Given the description of an element on the screen output the (x, y) to click on. 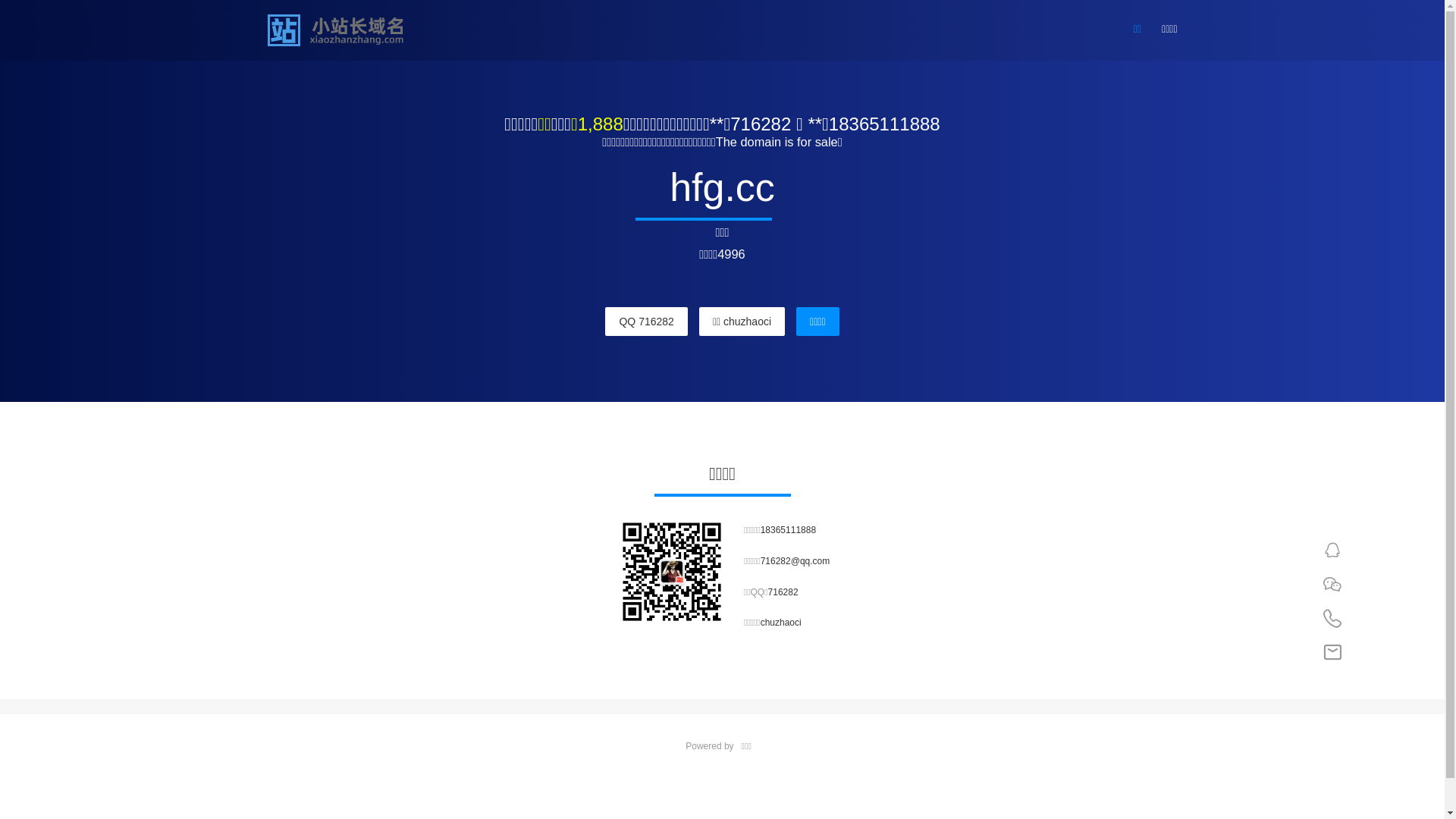
QQ 716282 Element type: text (646, 321)
